Given the description of an element on the screen output the (x, y) to click on. 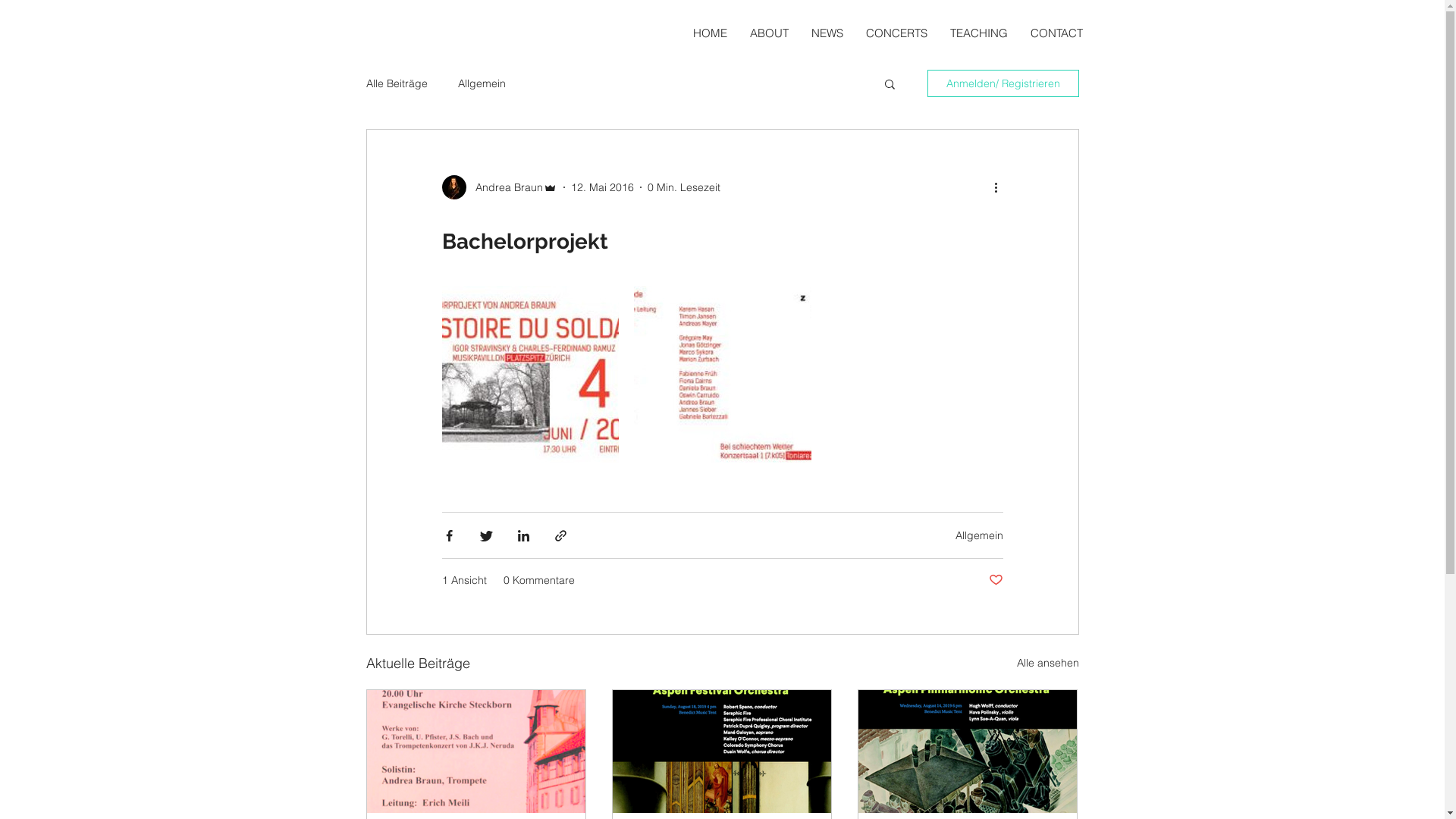
Anmelden/ Registrieren Element type: text (1002, 83)
HOME Element type: text (708, 32)
Allgemein Element type: text (979, 534)
ABOUT Element type: text (769, 32)
Allgemein Element type: text (481, 83)
NEWS Element type: text (826, 32)
TEACHING Element type: text (978, 32)
CONTACT Element type: text (1056, 32)
Alle ansehen Element type: text (1047, 663)
CONCERTS Element type: text (895, 32)
